Given the description of an element on the screen output the (x, y) to click on. 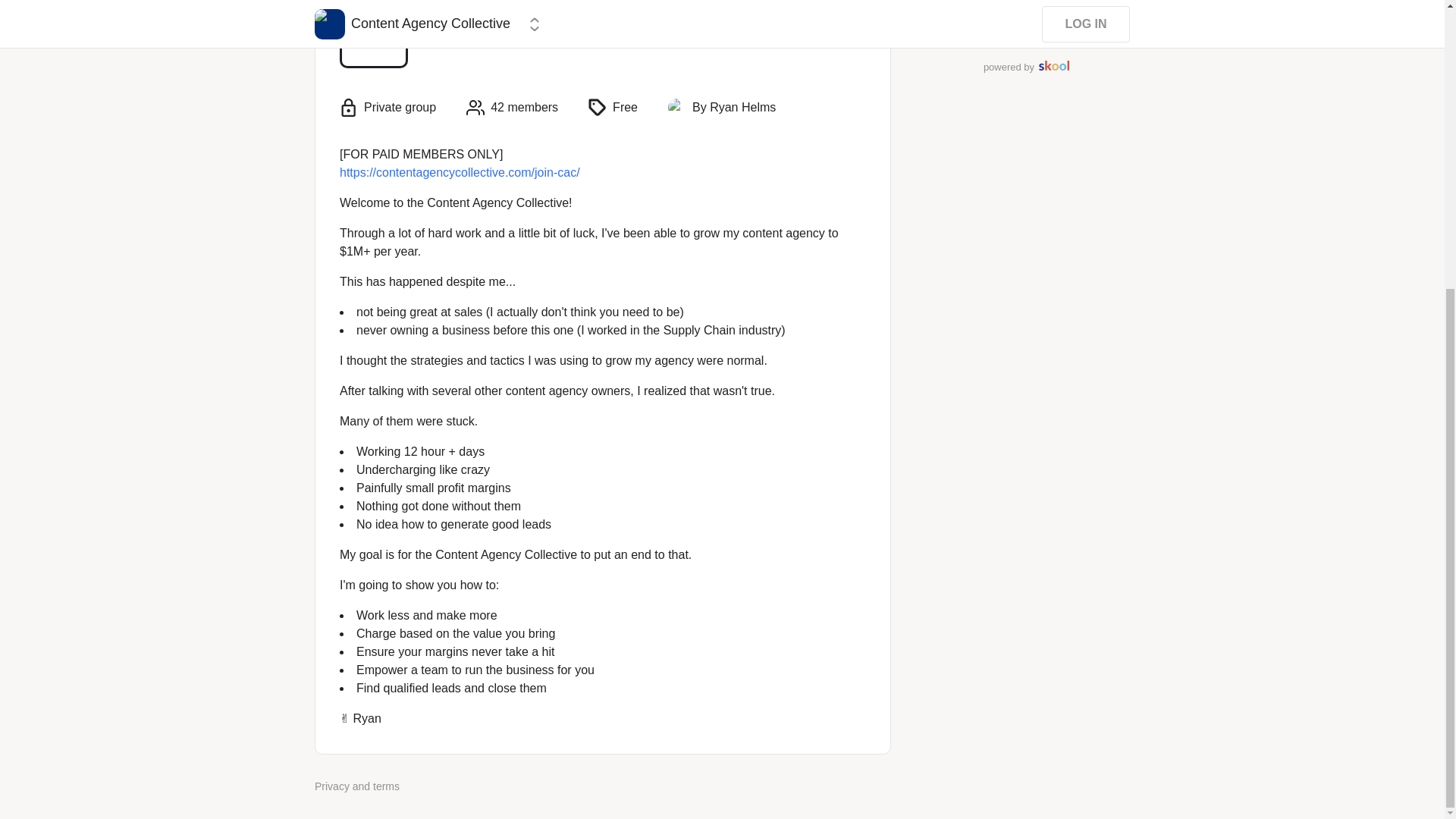
powered by (1026, 67)
Ryan Helms (676, 107)
JOIN GROUP (1026, 14)
By Ryan Helms (734, 107)
Privacy and terms (356, 786)
